Given the description of an element on the screen output the (x, y) to click on. 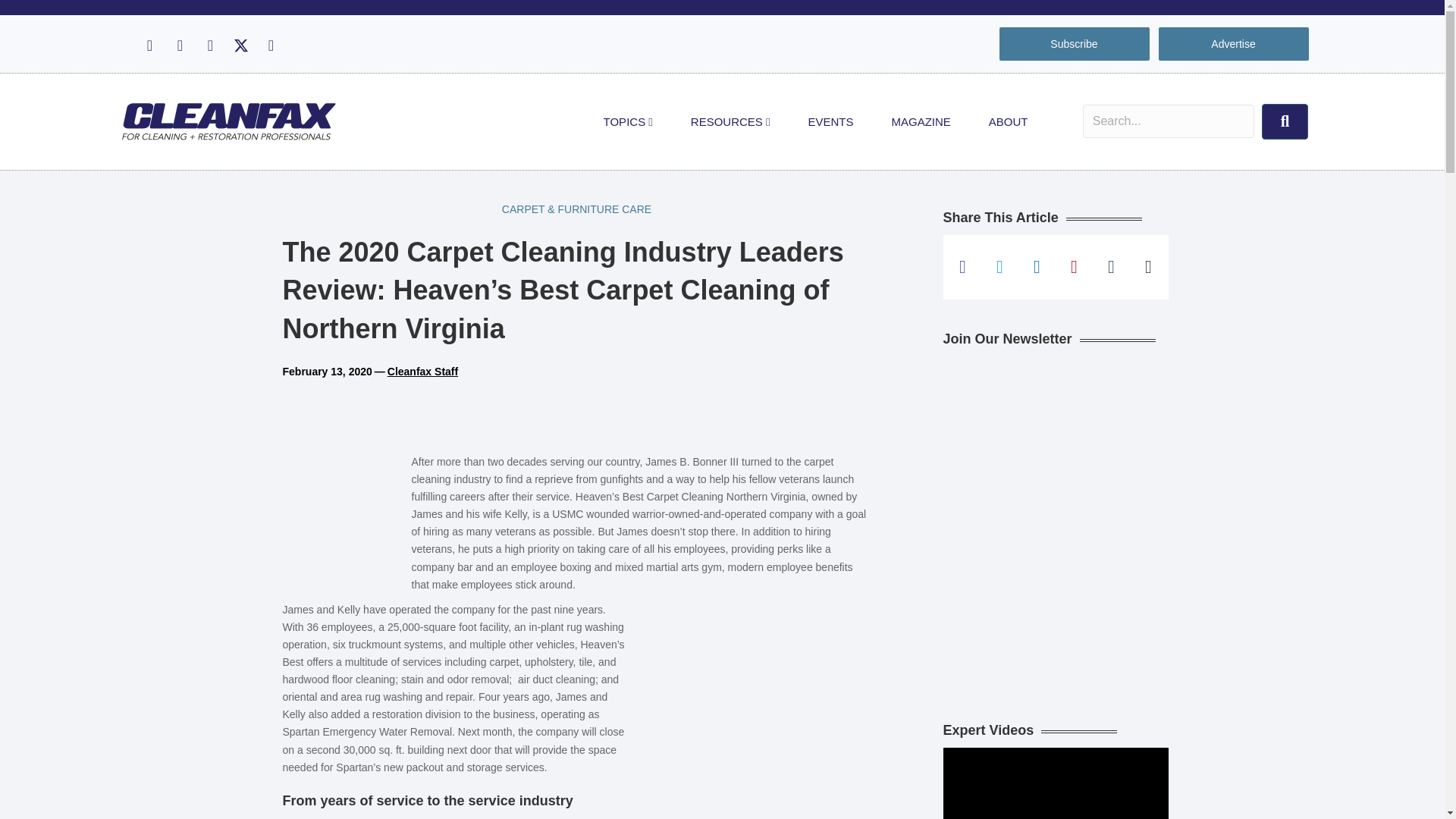
Subscribe (1073, 43)
ABOUT (1007, 121)
Instagram (179, 45)
TOPICS (628, 121)
Facebook (149, 45)
Cleanfax Staff (422, 371)
YouTube (270, 45)
Advertise (1232, 43)
EVENTS (830, 121)
MAGAZINE (920, 121)
RESOURCES (730, 121)
LinkedIn (209, 45)
